Given the description of an element on the screen output the (x, y) to click on. 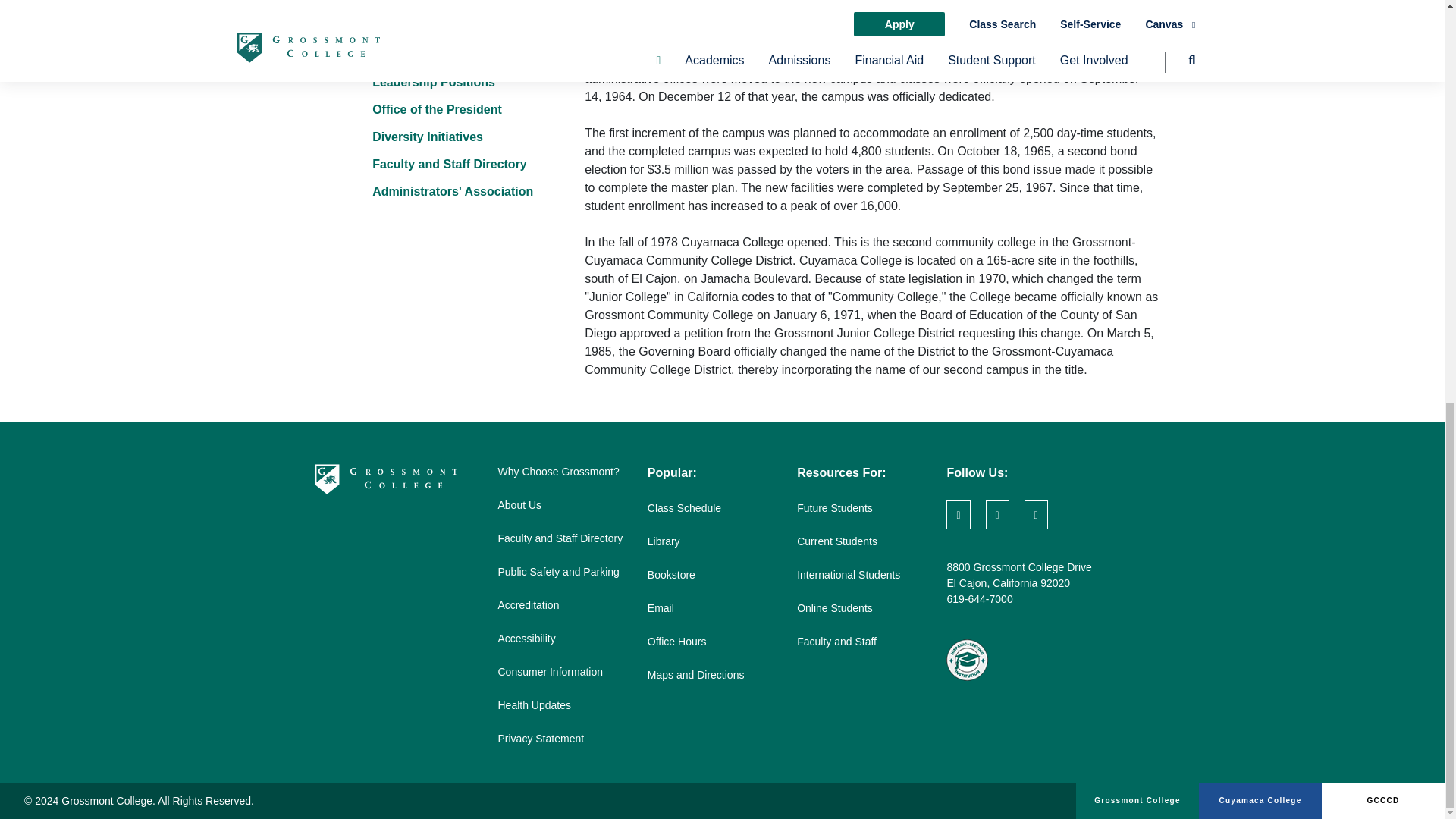
Office of the President (437, 109)
Ethics (390, 3)
Diversity Initiatives (427, 136)
Educational Objective (435, 27)
Educational Philosophy (440, 54)
Leadership Positions (433, 82)
